Given the description of an element on the screen output the (x, y) to click on. 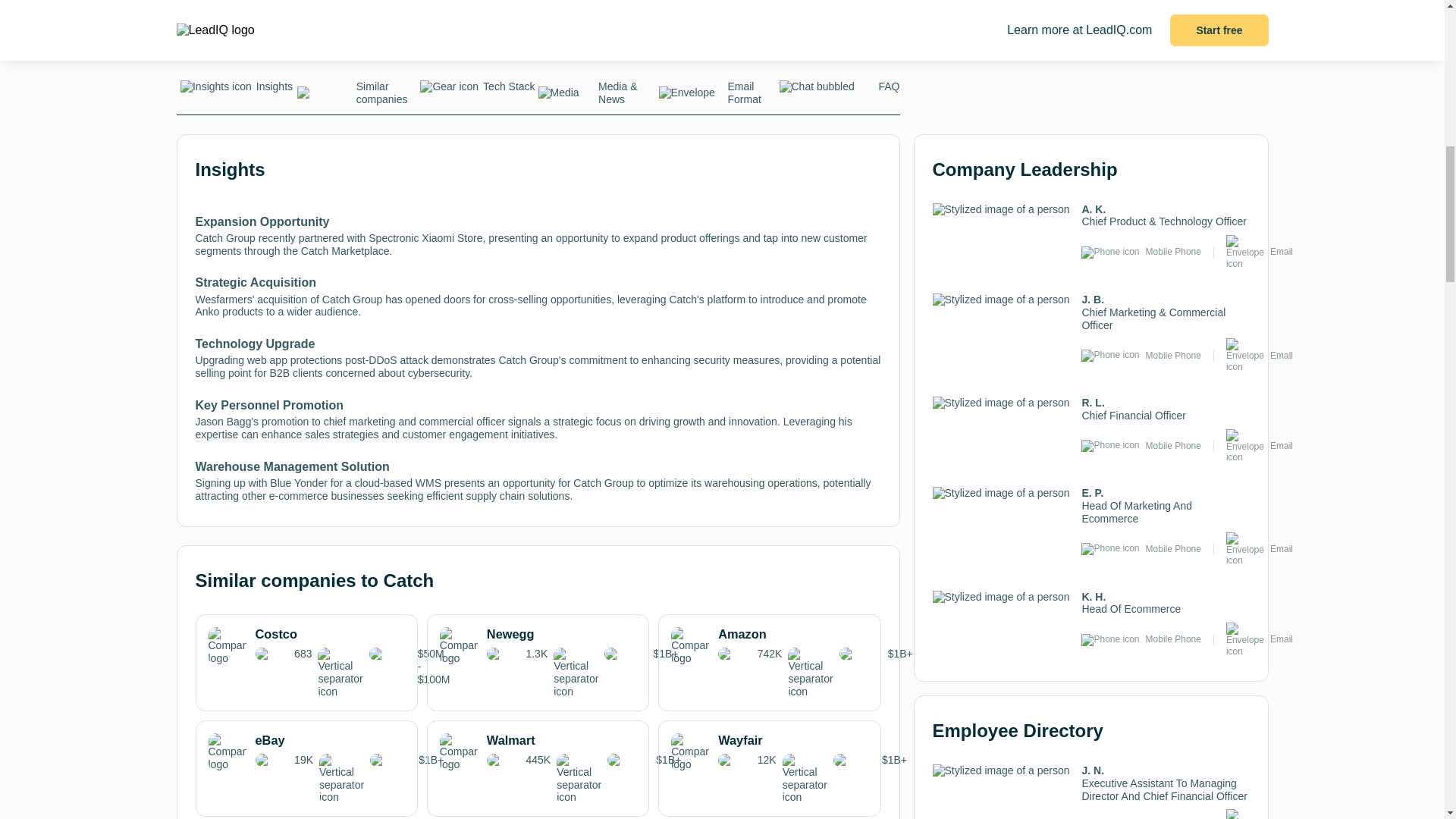
Email Format (718, 97)
FAQ (838, 90)
Tech Stack (476, 90)
Insights (236, 90)
Similar companies (357, 97)
